Given the description of an element on the screen output the (x, y) to click on. 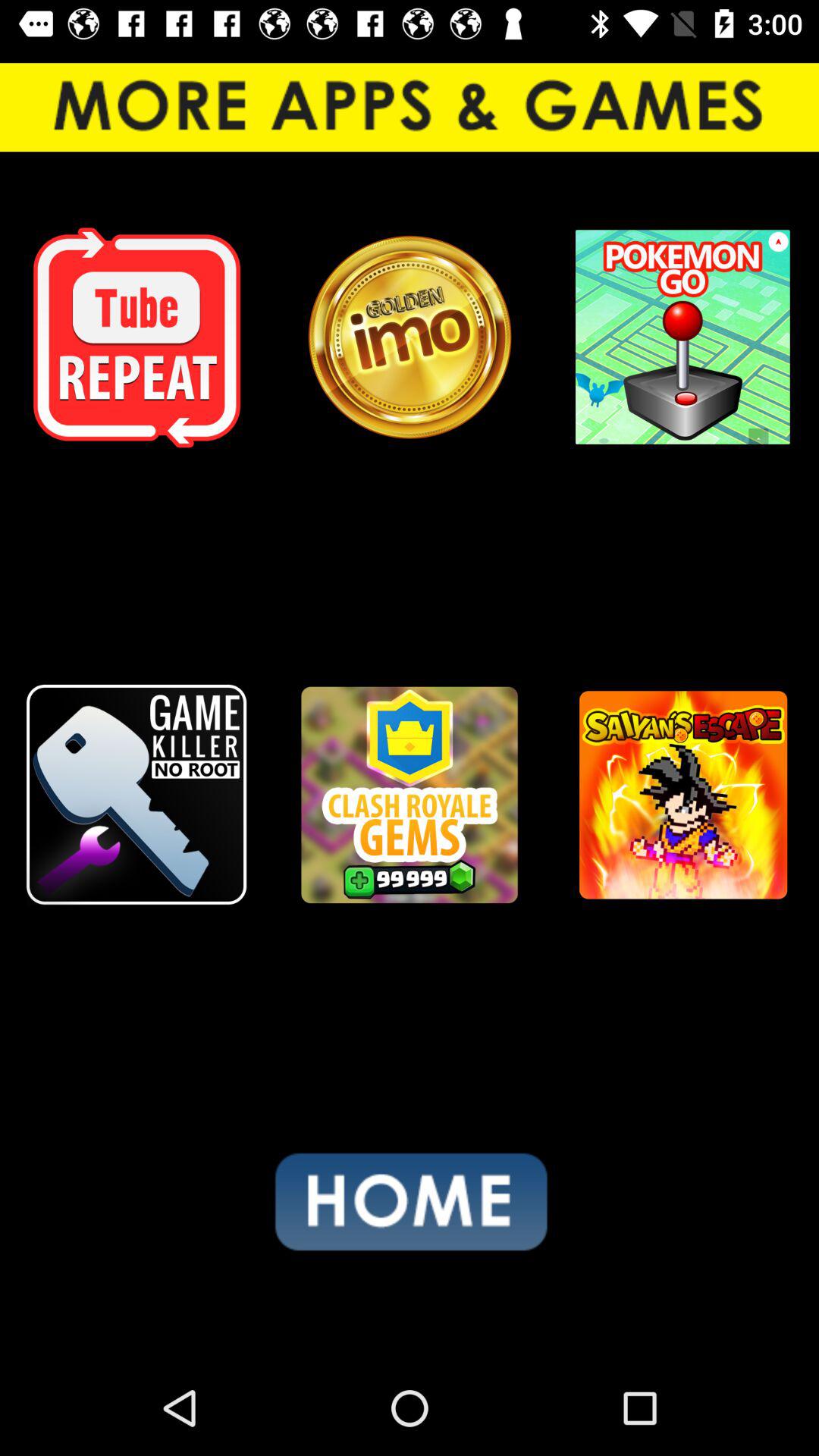
tube repeat (136, 337)
